Given the description of an element on the screen output the (x, y) to click on. 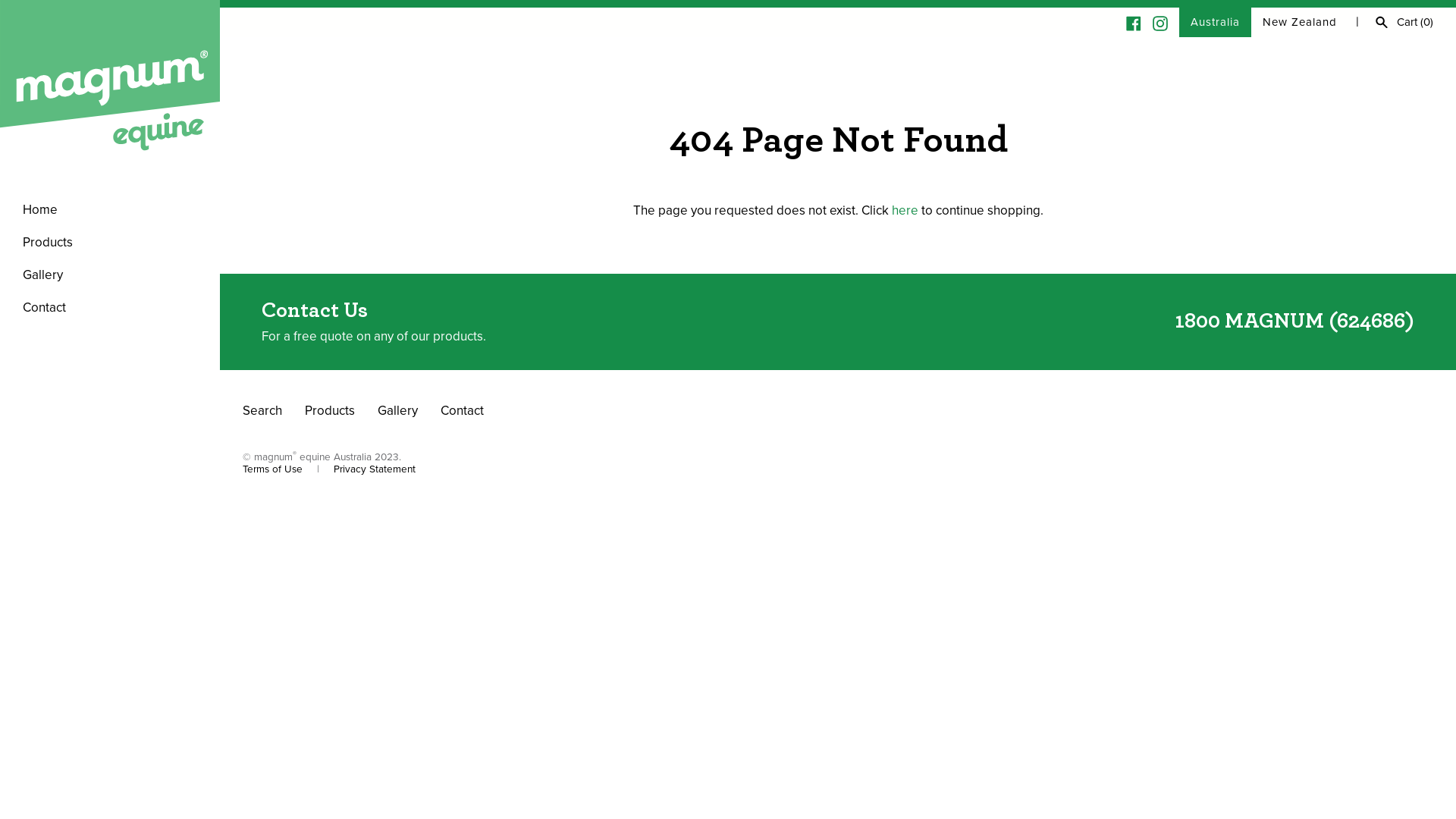
Australia Element type: text (1215, 22)
Products Element type: text (329, 410)
Facebook Element type: text (1133, 21)
Terms of Use Element type: text (272, 469)
1800 MAGNUM (624686) Element type: text (1294, 321)
here Element type: text (904, 210)
Search Element type: text (262, 410)
Gallery Element type: text (397, 410)
New Zealand Element type: text (1299, 22)
Cart (0) Element type: text (1414, 21)
Products Element type: text (109, 241)
Privacy Statement Element type: text (374, 469)
Contact Element type: text (462, 410)
Instagram Element type: text (1159, 21)
Contact Element type: text (109, 307)
Contact Us Element type: text (314, 310)
Home Element type: text (109, 209)
Gallery Element type: text (109, 274)
